Given the description of an element on the screen output the (x, y) to click on. 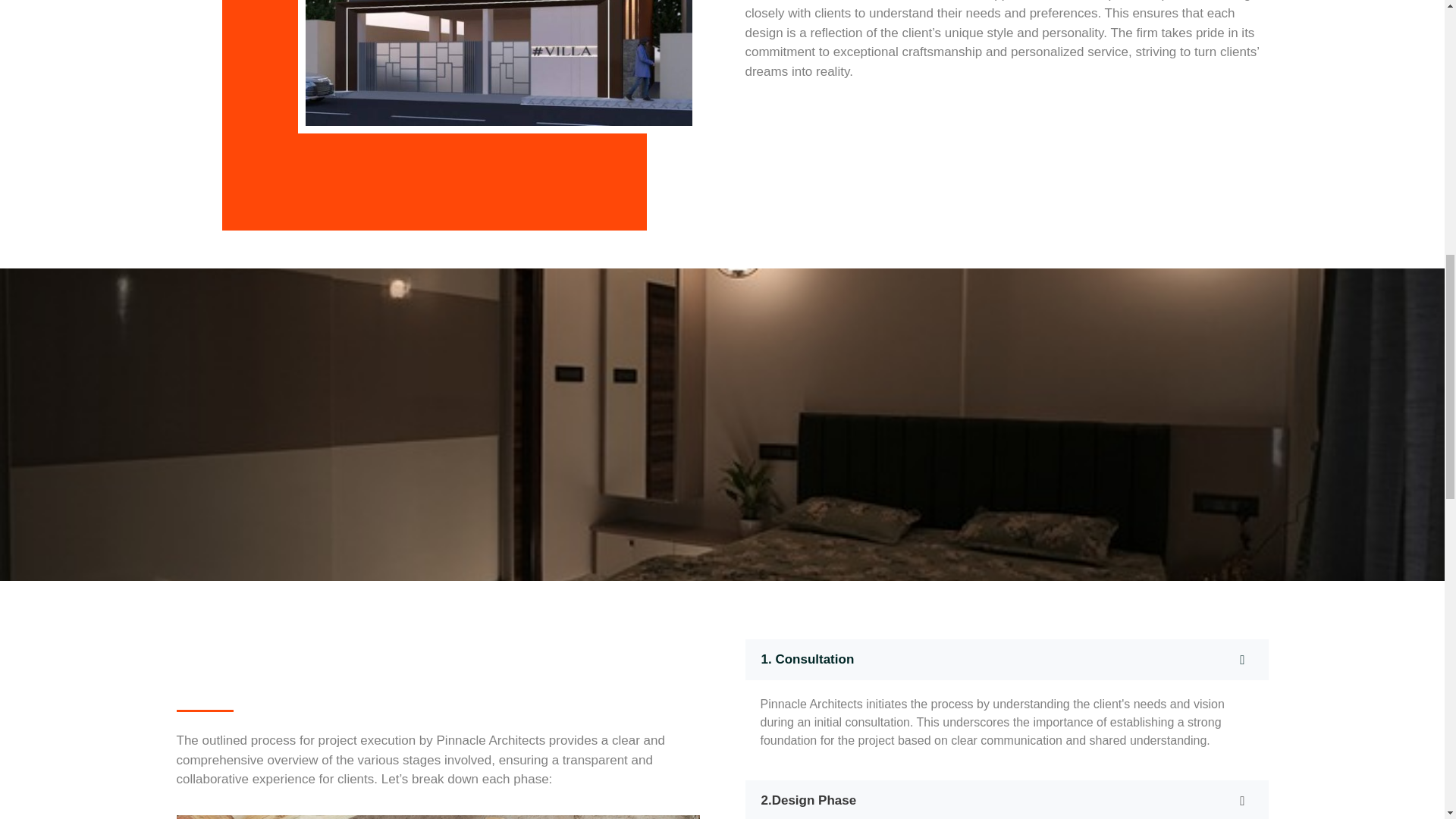
2 (497, 66)
1. Consultation (1006, 659)
2.Design Phase (1006, 799)
